Given the description of an element on the screen output the (x, y) to click on. 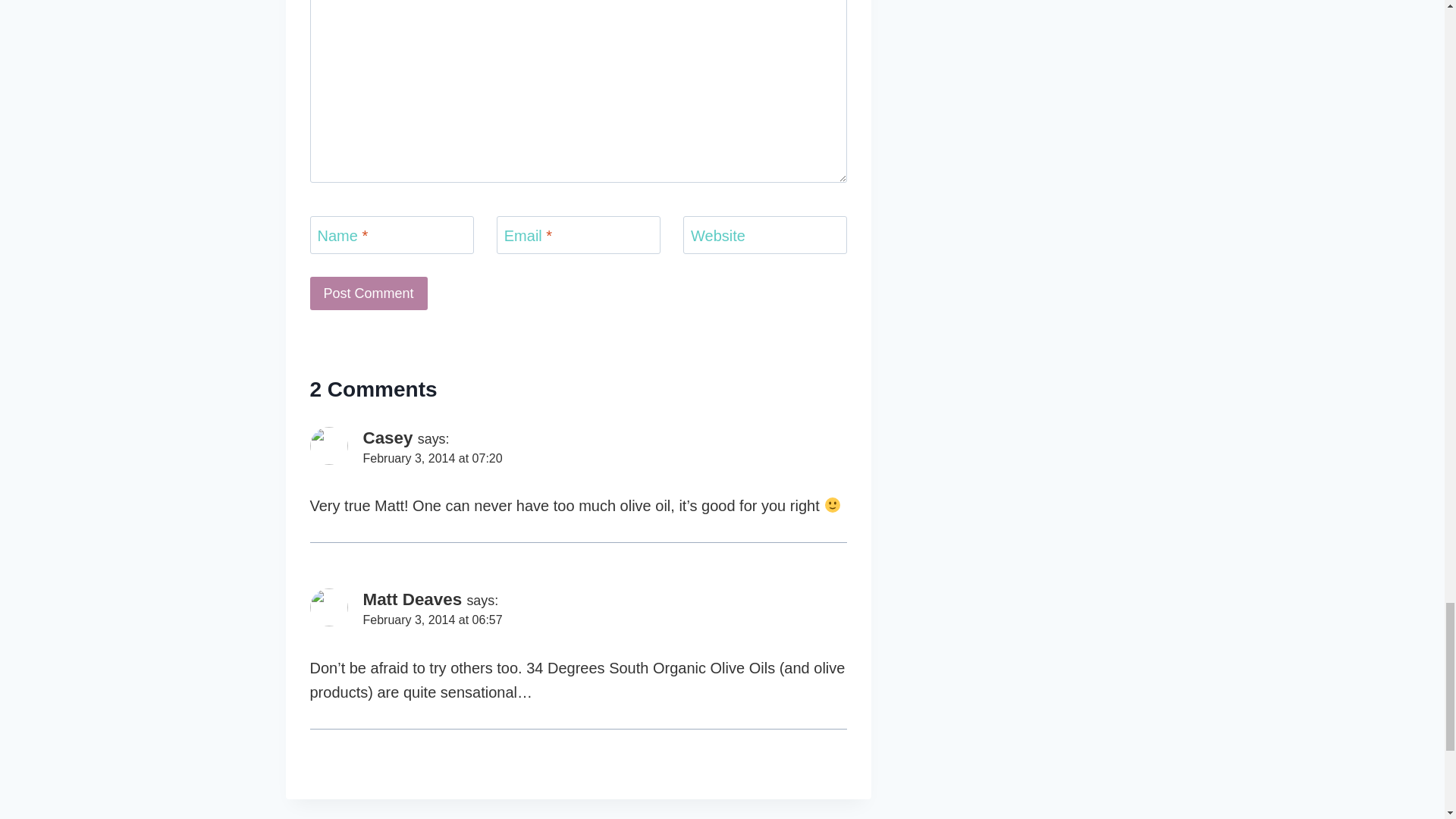
Post Comment (367, 292)
